Given the description of an element on the screen output the (x, y) to click on. 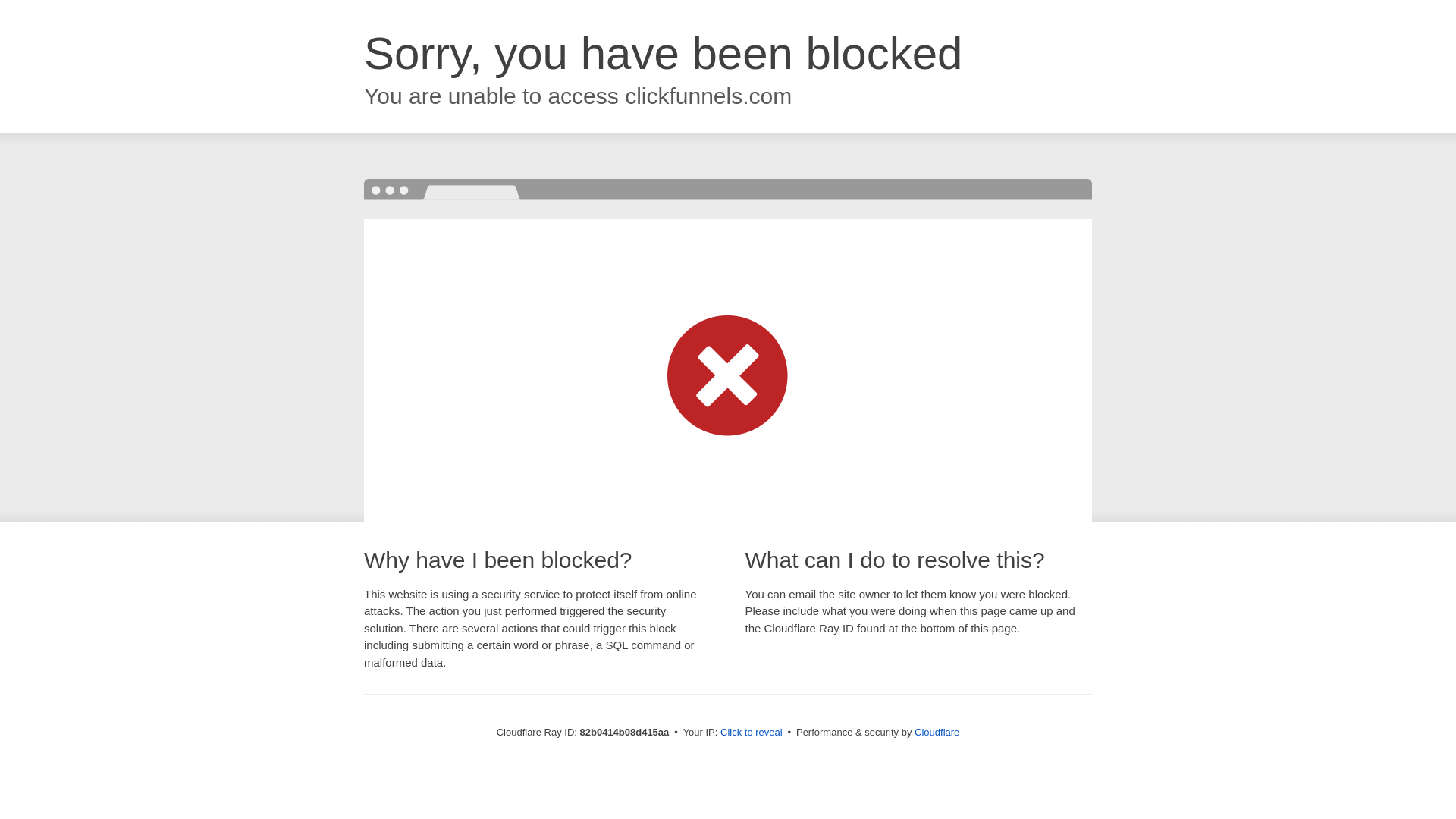
Click to reveal Element type: text (751, 732)
Cloudflare Element type: text (936, 731)
